Given the description of an element on the screen output the (x, y) to click on. 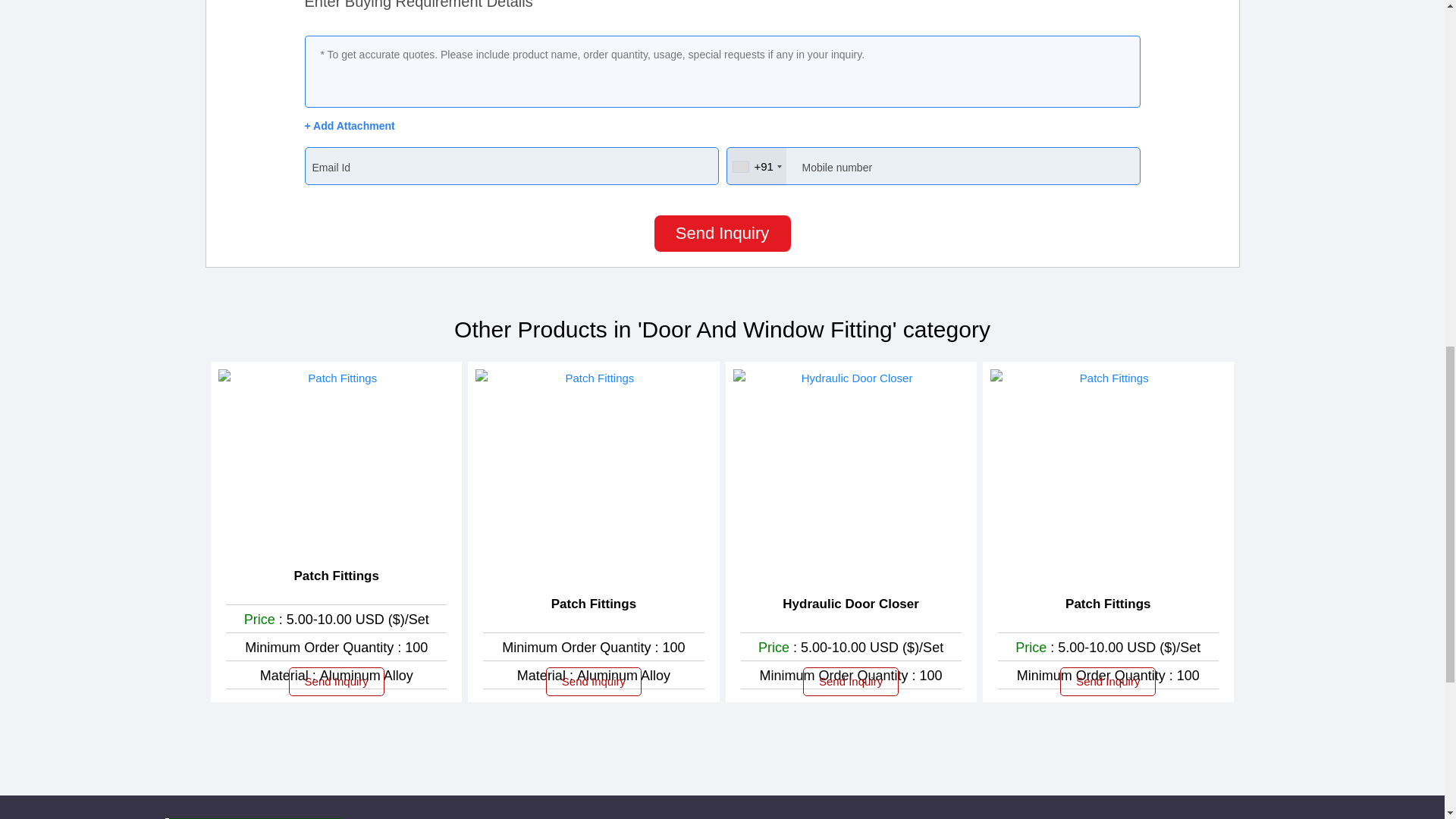
Patch Fittings (593, 604)
Patch Fittings (336, 576)
Send Inquiry (336, 681)
Send Inquiry (850, 681)
Send Inquiry (721, 233)
Hydraulic Door Closer (850, 604)
Send Inquiry (594, 681)
